Given the description of an element on the screen output the (x, y) to click on. 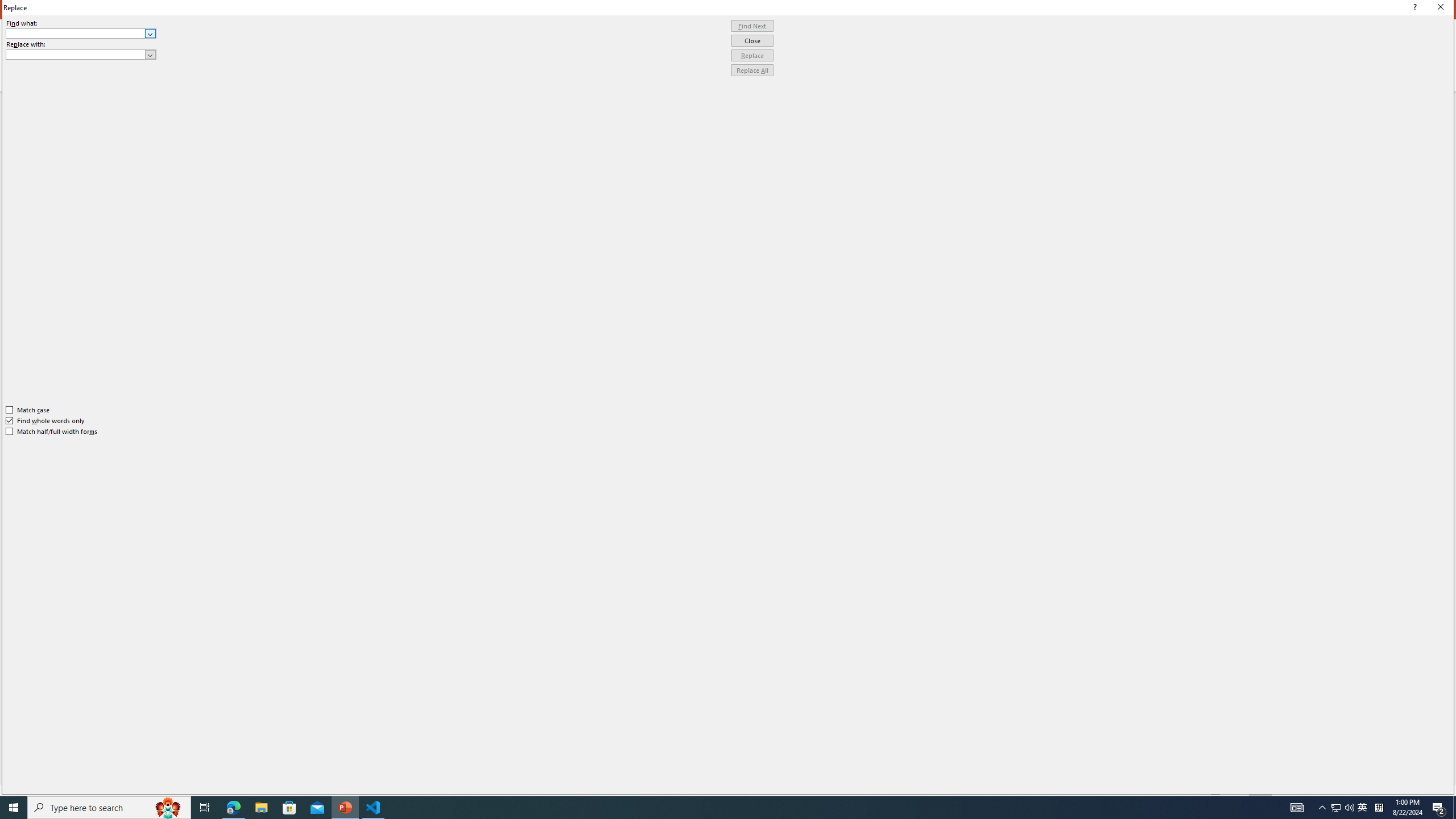
Match half/full width forms (52, 431)
Find Next (752, 25)
Find whole words only (45, 420)
Replace All (752, 69)
Context help (1413, 8)
Replace (752, 55)
Replace with (80, 54)
Find what (80, 33)
Open (150, 53)
Find what (75, 33)
Match case (27, 409)
Replace with (75, 53)
